Given the description of an element on the screen output the (x, y) to click on. 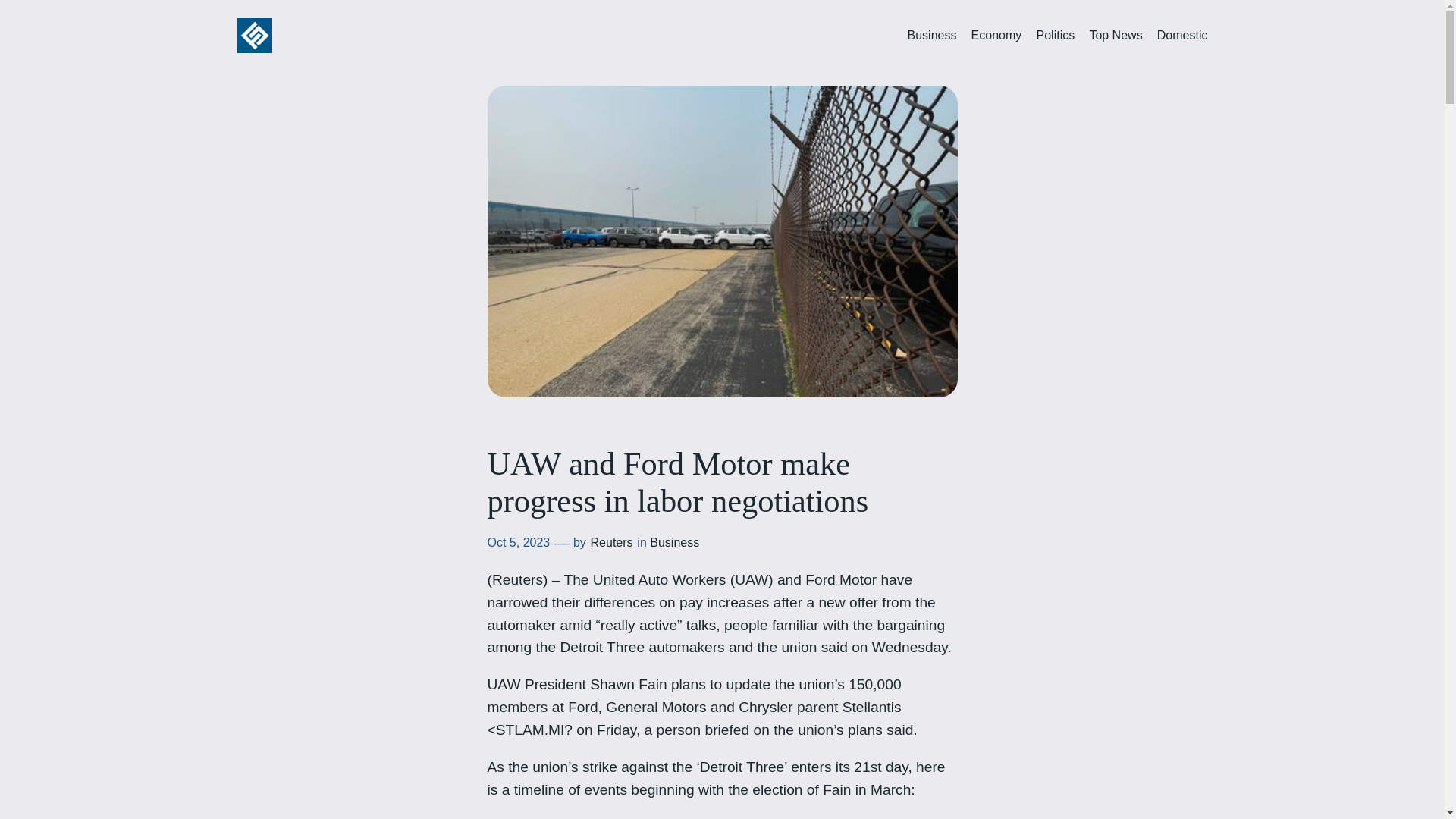
Top News (1115, 35)
Reuters (612, 542)
Economy (996, 35)
Business (931, 35)
Business (673, 542)
Domestic (1182, 35)
Oct 5, 2023 (518, 542)
Politics (1054, 35)
